Given the description of an element on the screen output the (x, y) to click on. 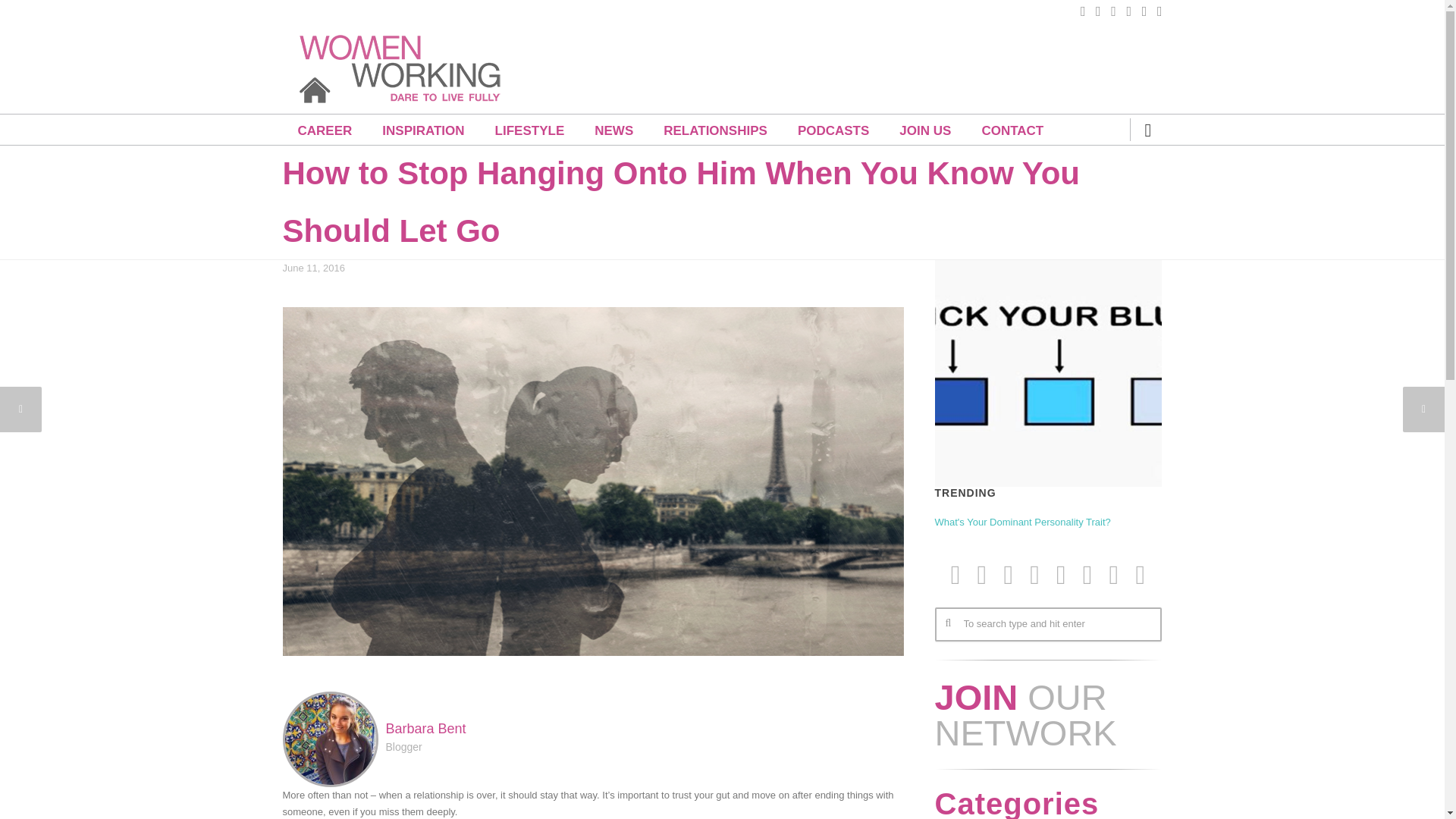
JOIN US (924, 131)
CAREER (324, 131)
To search type and hit enter (1047, 624)
PODCASTS (833, 131)
LIFESTYLE (529, 131)
RELATIONSHIPS (715, 131)
CONTACT (1012, 131)
NEWS (613, 131)
INSPIRATION (422, 131)
